Given the description of an element on the screen output the (x, y) to click on. 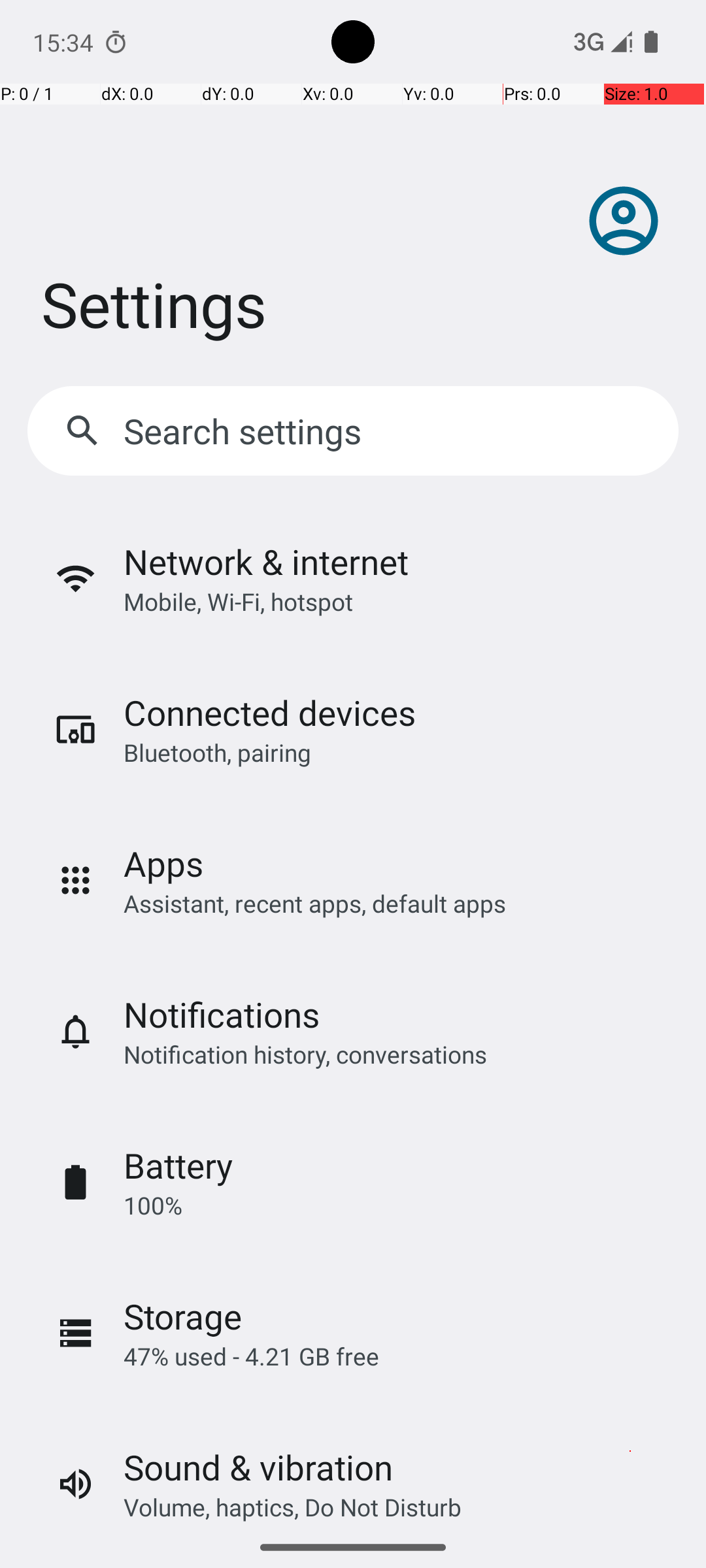
47% used - 4.21 GB free Element type: android.widget.TextView (251, 1355)
